Given the description of an element on the screen output the (x, y) to click on. 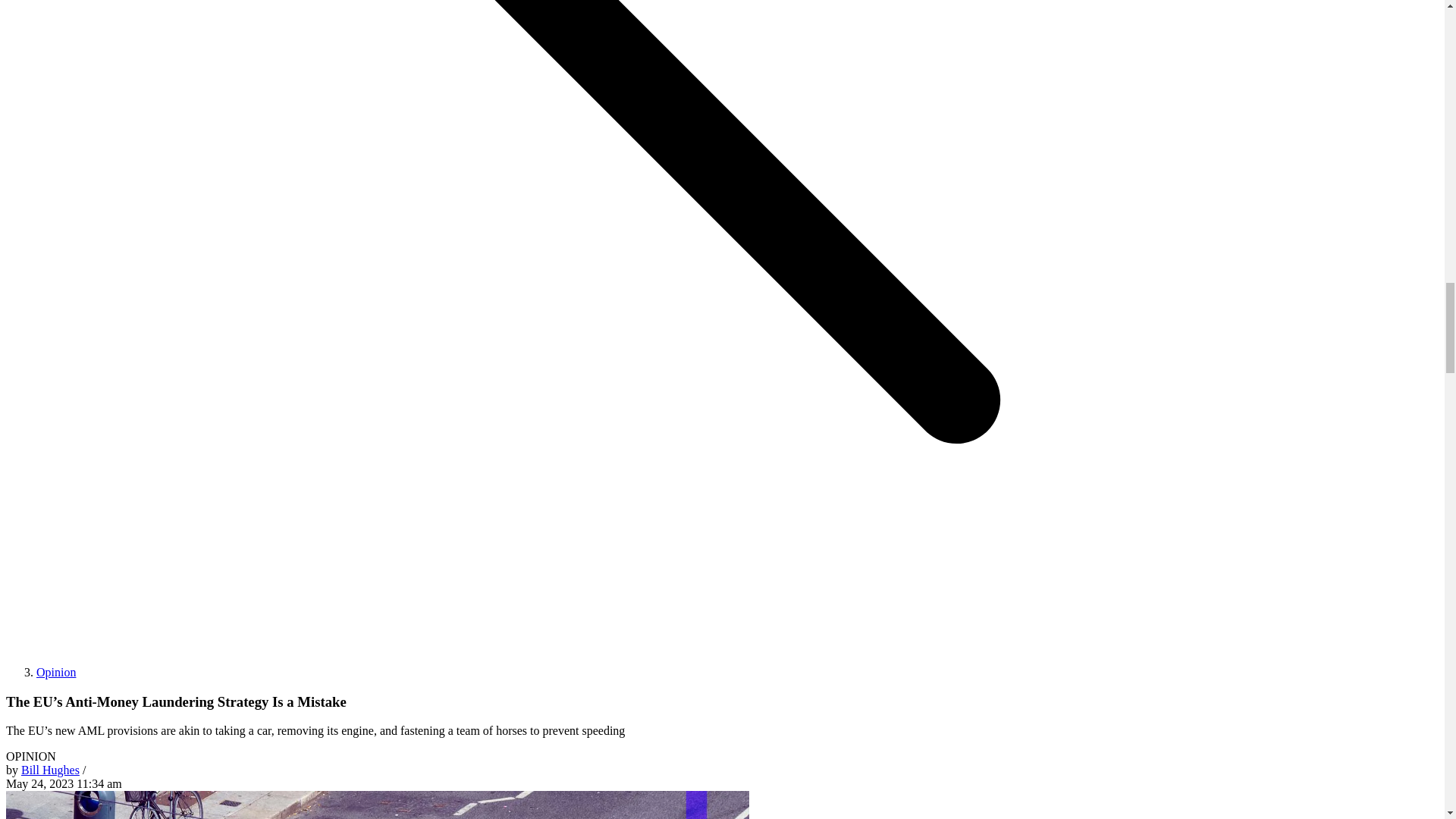
Bill Hughes (50, 769)
Opinion (55, 671)
